Given the description of an element on the screen output the (x, y) to click on. 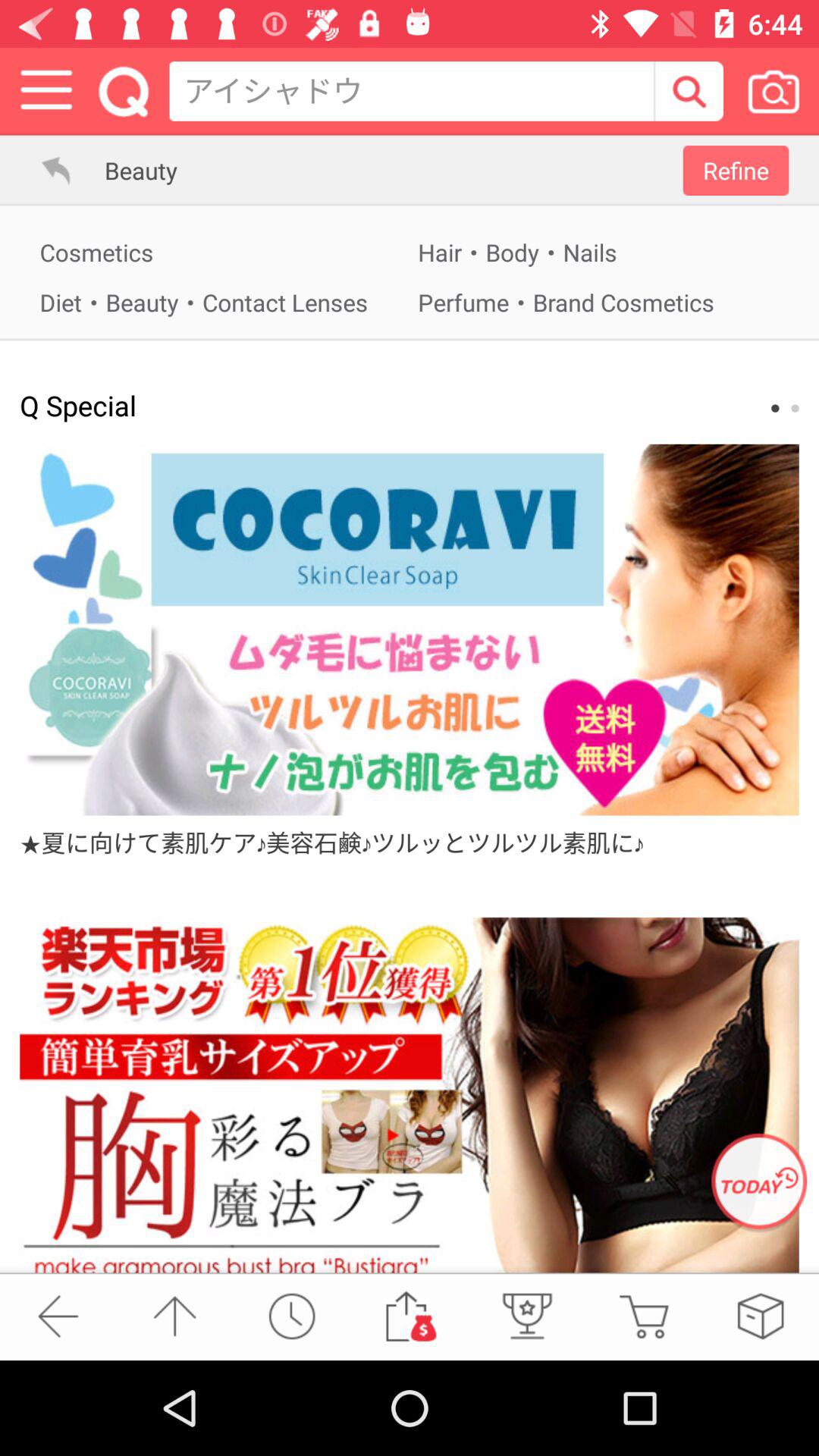
outoplay button reloade (291, 1316)
